Given the description of an element on the screen output the (x, y) to click on. 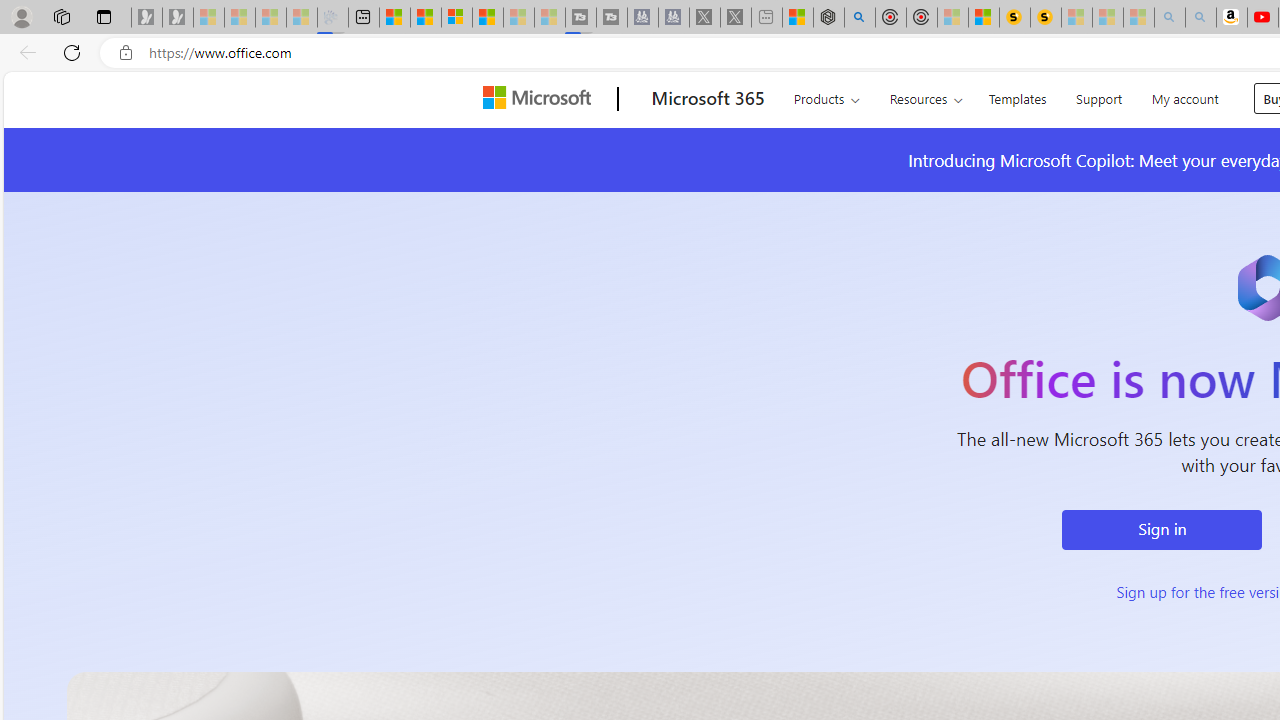
Streaming Coverage | T3 - Sleeping (580, 17)
Amazon Echo Dot PNG - Search Images - Sleeping (1200, 17)
My account (1184, 96)
Microsoft Start - Sleeping (518, 17)
